Given the description of an element on the screen output the (x, y) to click on. 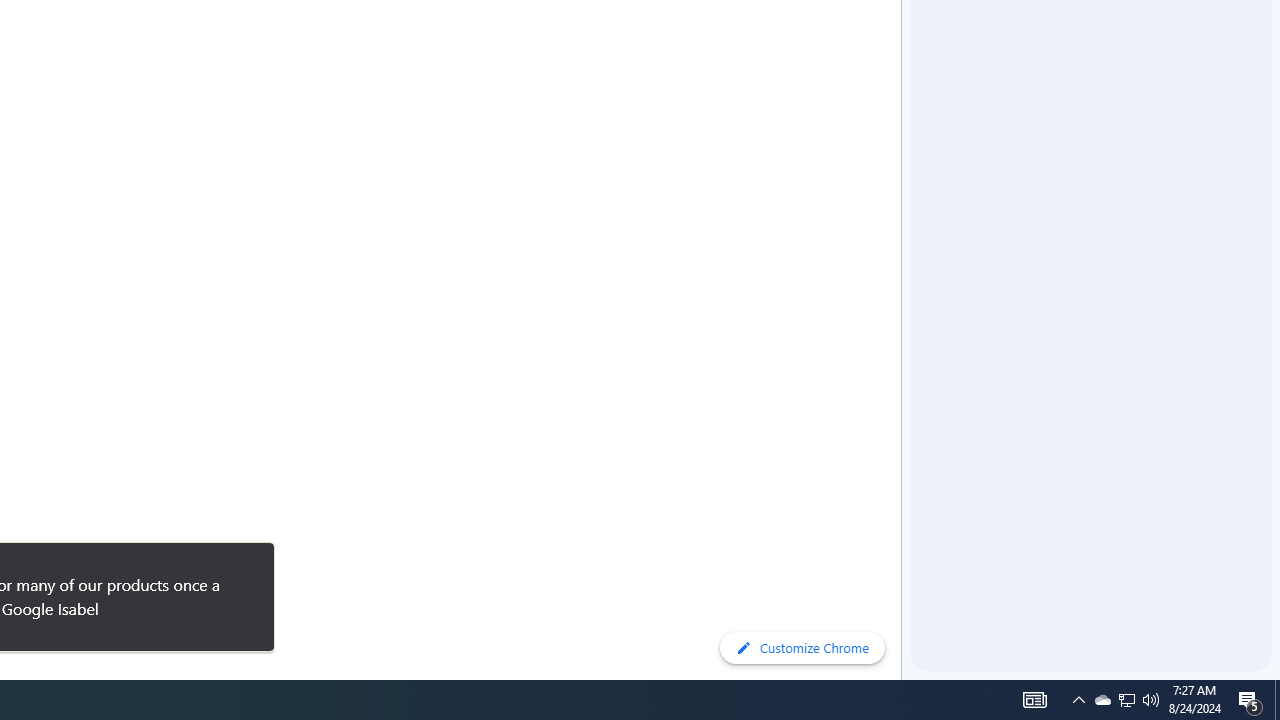
Side Panel Resize Handle (905, 39)
